Given the description of an element on the screen output the (x, y) to click on. 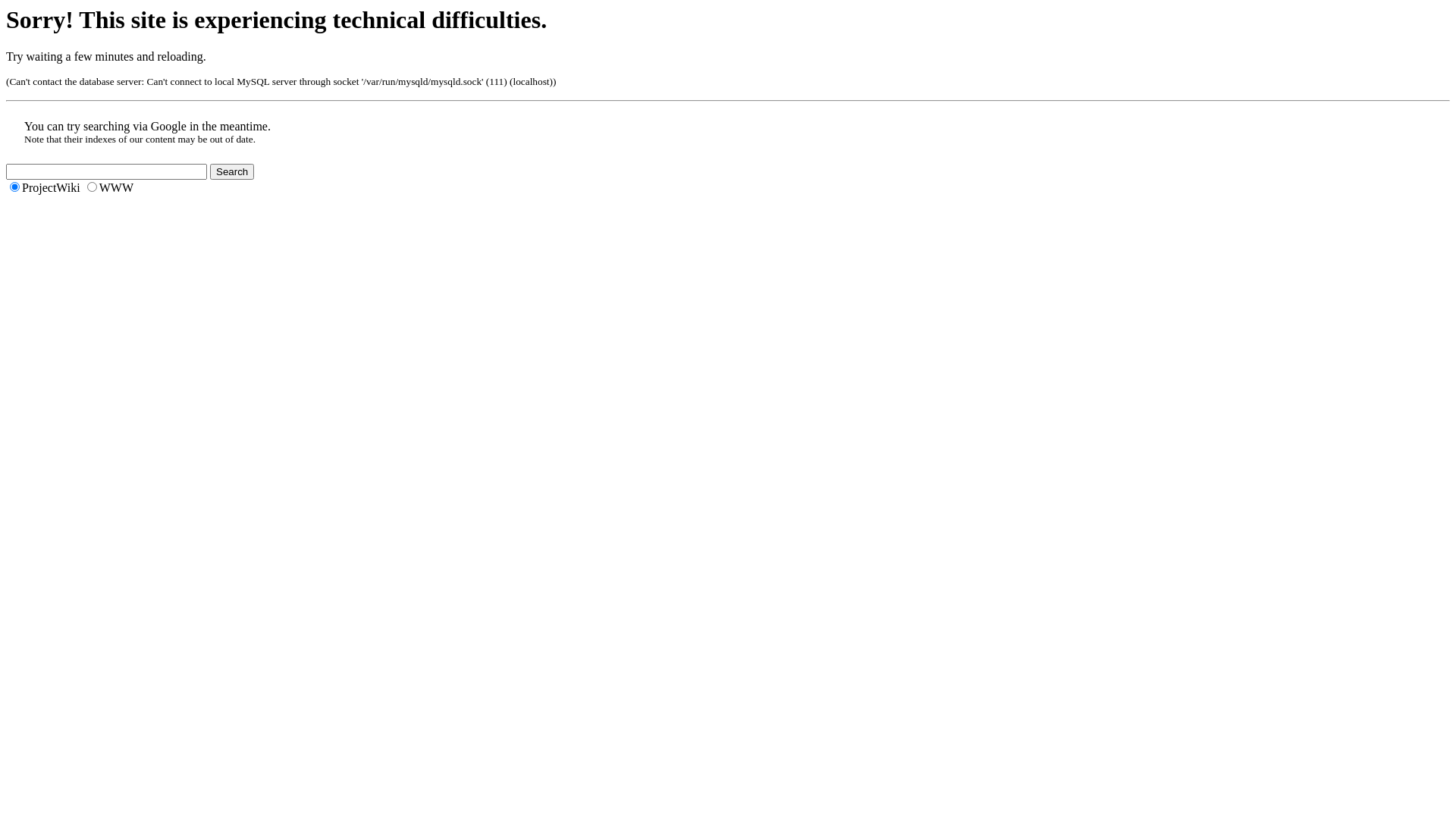
Search Element type: text (232, 171)
